Given the description of an element on the screen output the (x, y) to click on. 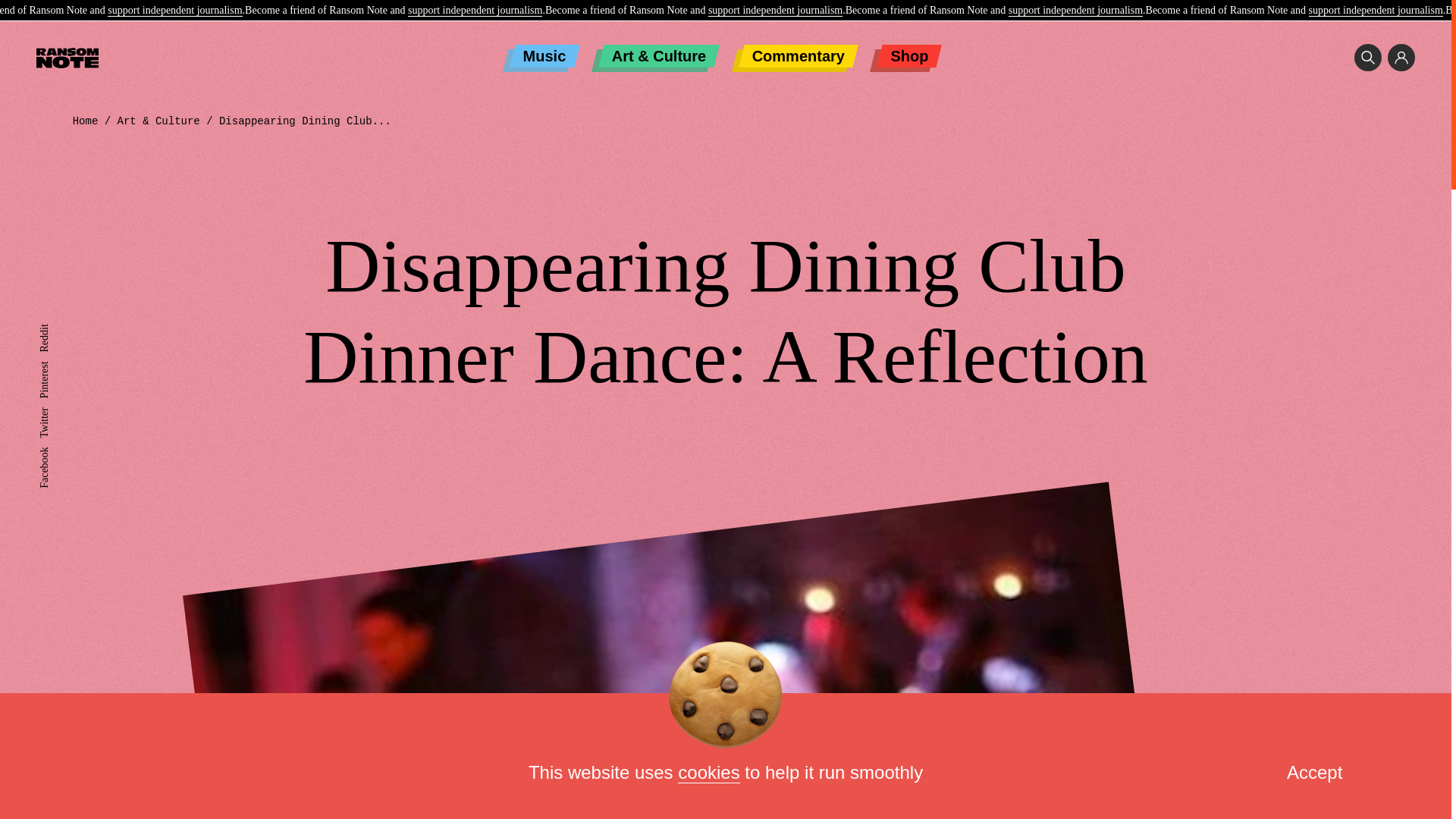
support independent journalism (174, 10)
Shop (909, 56)
Commentary (798, 56)
support independent journalism (1375, 10)
Home (85, 121)
Twitter (53, 413)
Reddit (52, 329)
Facebook (59, 452)
Music (544, 56)
support independent journalism (474, 10)
Pinterest (57, 367)
support independent journalism (1075, 10)
support independent journalism (775, 10)
